Given the description of an element on the screen output the (x, y) to click on. 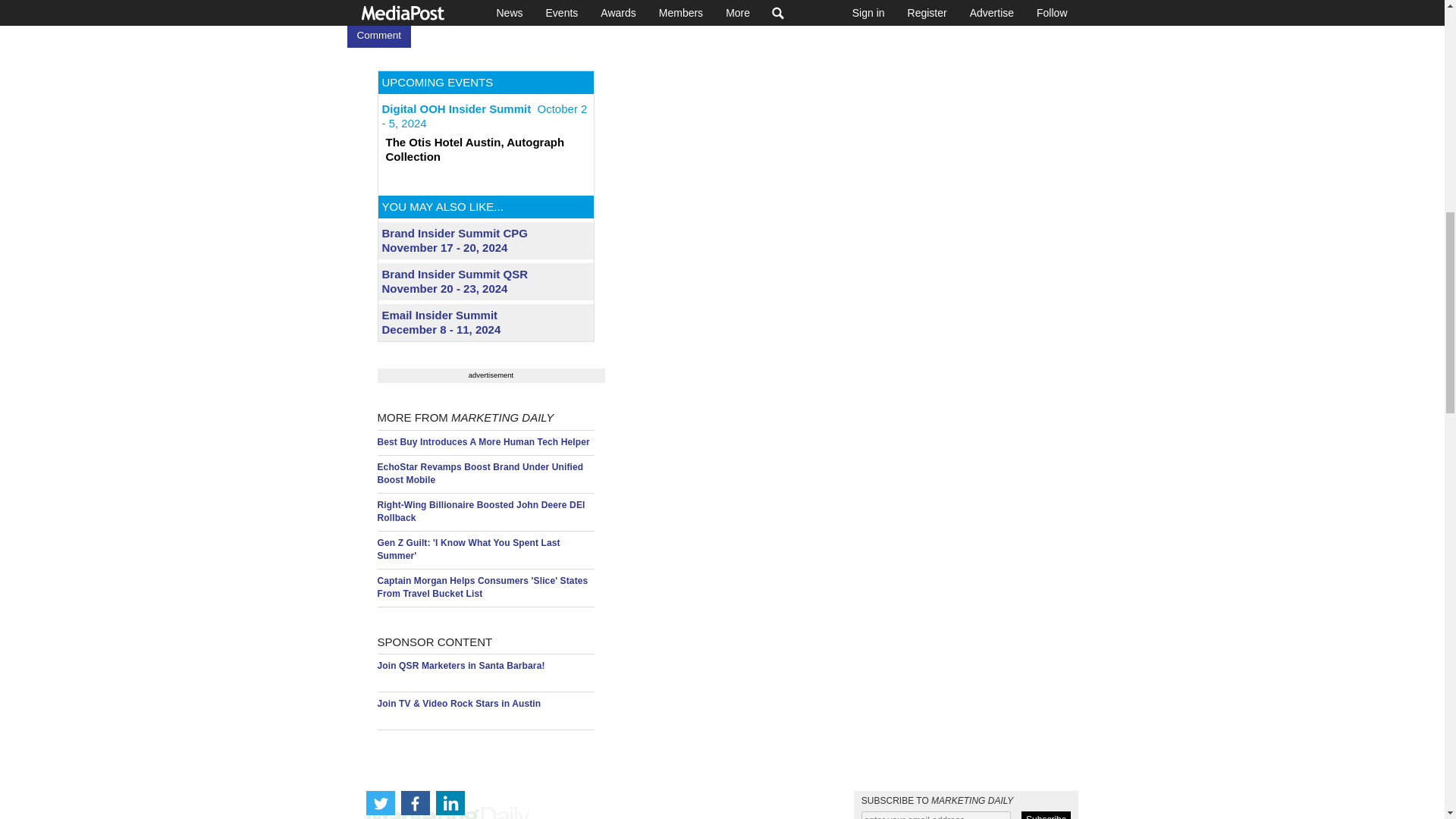
Subscribe (1046, 815)
